Given the description of an element on the screen output the (x, y) to click on. 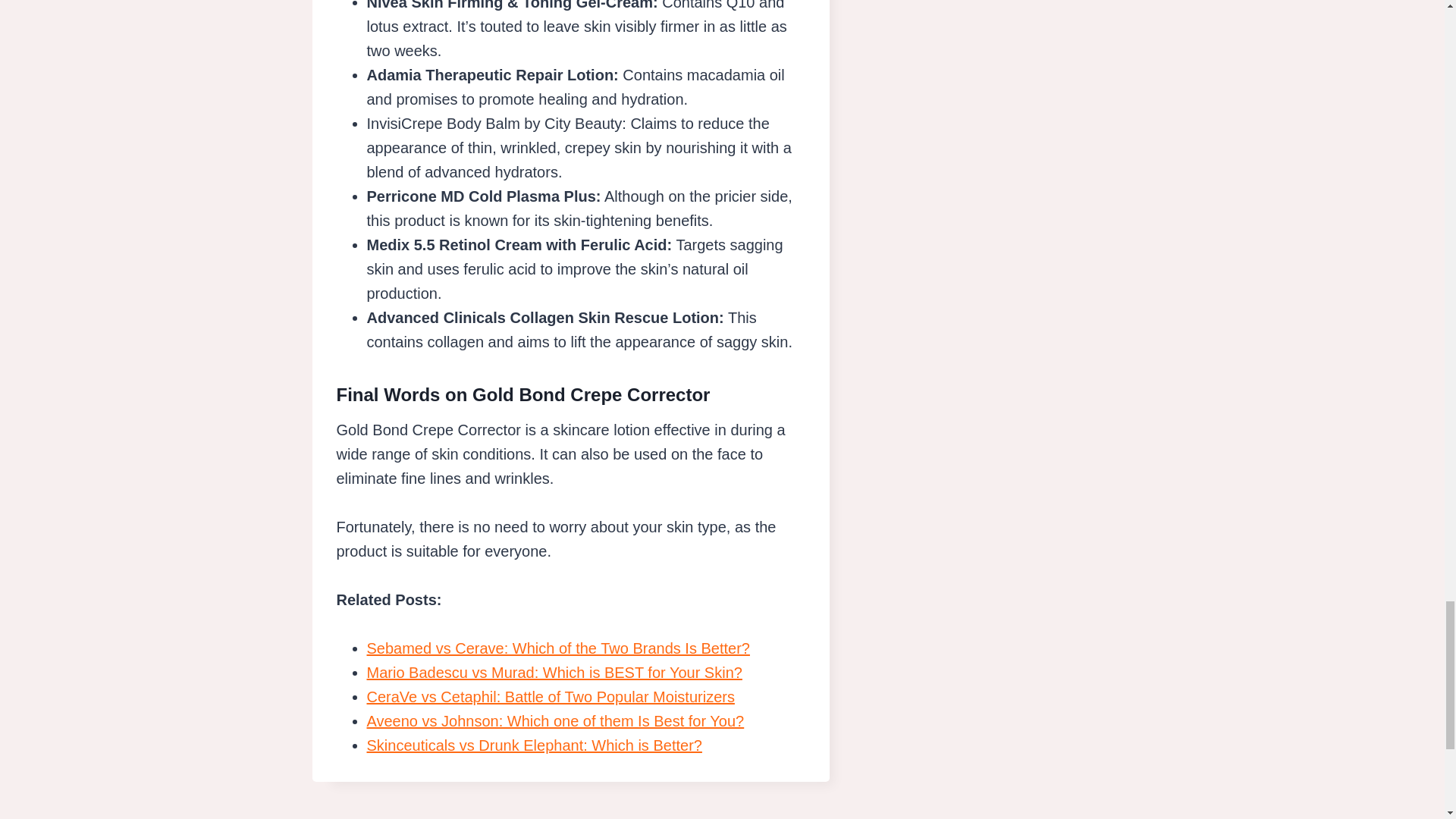
Mario Badescu vs Murad: Which is BEST for Your Skin? (554, 672)
Skinceuticals vs Drunk Elephant: Which is Better? (533, 745)
Sebamed vs Cerave: Which of the Two Brands Is Better? (557, 647)
CeraVe vs Cetaphil: Battle of Two Popular Moisturizers (550, 696)
Aveeno vs Johnson: Which one of them Is Best for You? (555, 720)
